Given the description of an element on the screen output the (x, y) to click on. 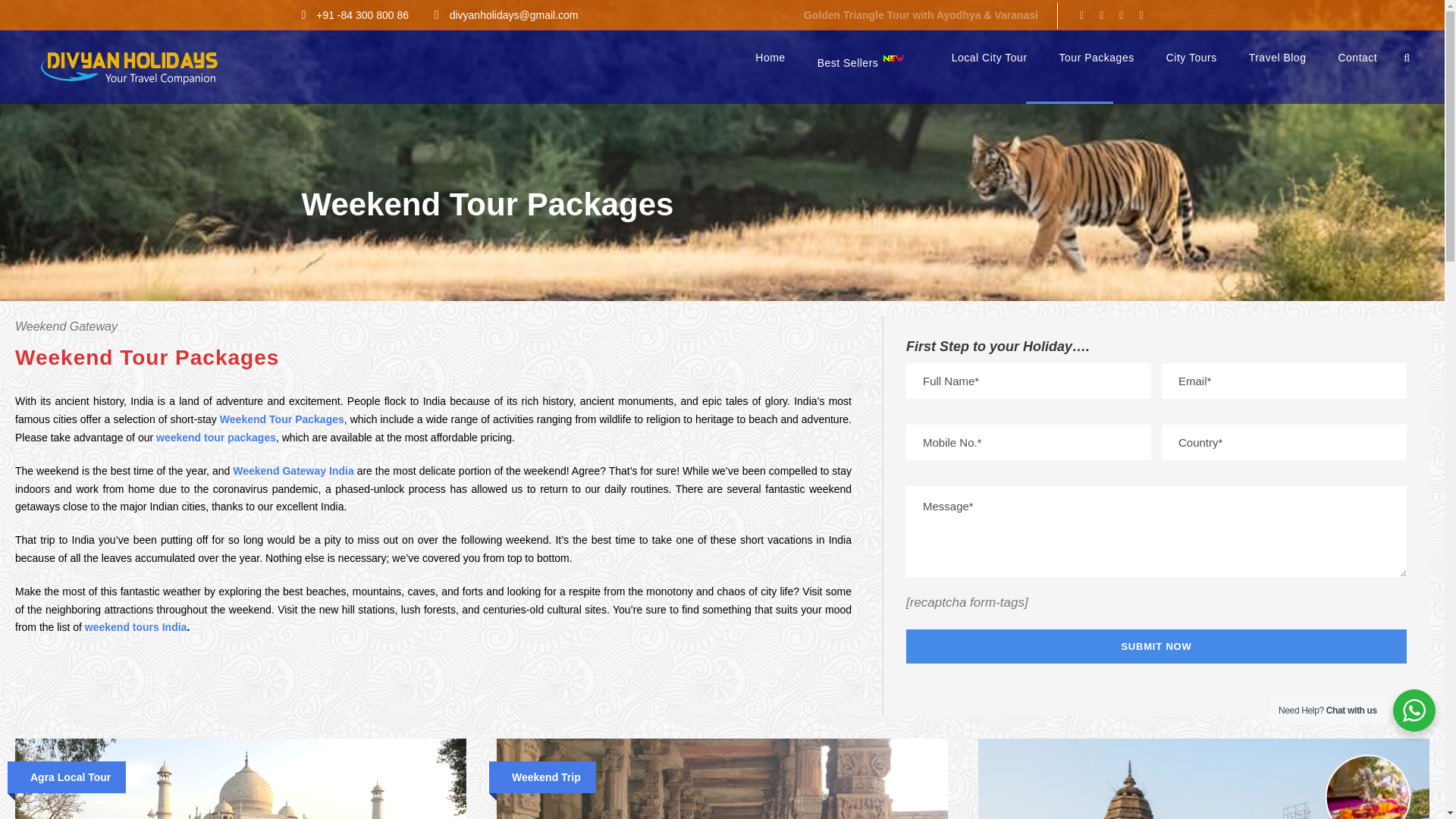
Travel To India (129, 67)
Contact Form (1155, 347)
Submit Now (1155, 646)
